Given the description of an element on the screen output the (x, y) to click on. 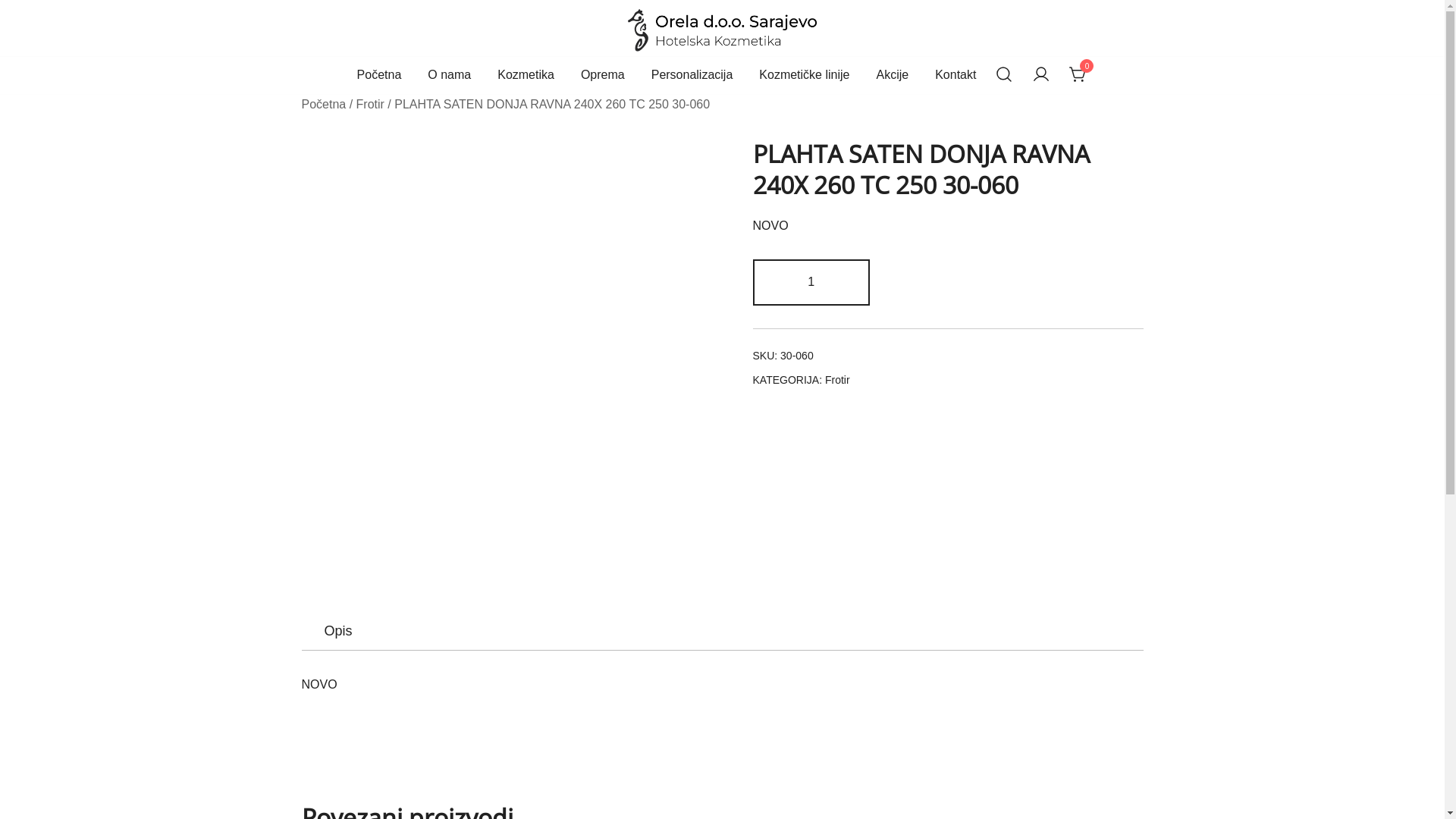
0 Element type: text (1078, 74)
Kontakt Element type: text (955, 75)
Oprema Element type: text (602, 75)
1023 Element type: text (1013, 282)
O nama Element type: text (448, 75)
Kozmetika Element type: text (525, 75)
Orela d.o.o. Element type: text (668, 68)
Search for a product Element type: hover (1003, 75)
Akcije Element type: text (891, 75)
Your account Element type: hover (1041, 75)
Personalizacija Element type: text (692, 75)
Frotir Element type: text (370, 103)
Frotir Element type: text (837, 379)
Opis Element type: text (338, 630)
